Given the description of an element on the screen output the (x, y) to click on. 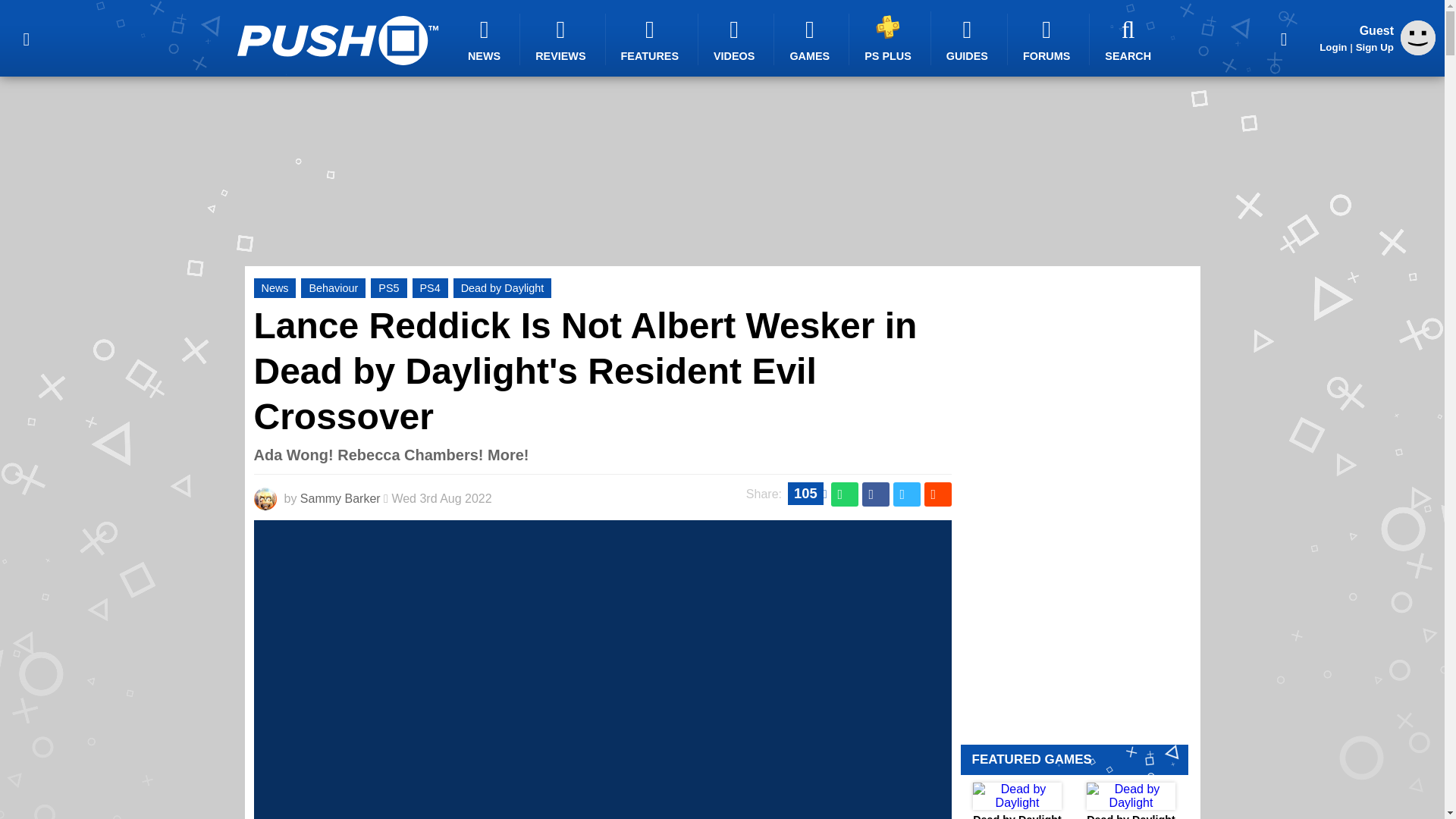
Guest (1417, 51)
Login (1332, 47)
NEWS (485, 39)
Share this on Reddit (936, 494)
PS PLUS (889, 38)
Sammy Barker (339, 498)
Behaviour (333, 288)
Share this on Twitter (906, 494)
VIDEOS (736, 39)
Share This Page (1283, 37)
FEATURES (651, 39)
Share this on WhatsApp (845, 494)
Push Square (336, 40)
GAMES (811, 39)
